Given the description of an element on the screen output the (x, y) to click on. 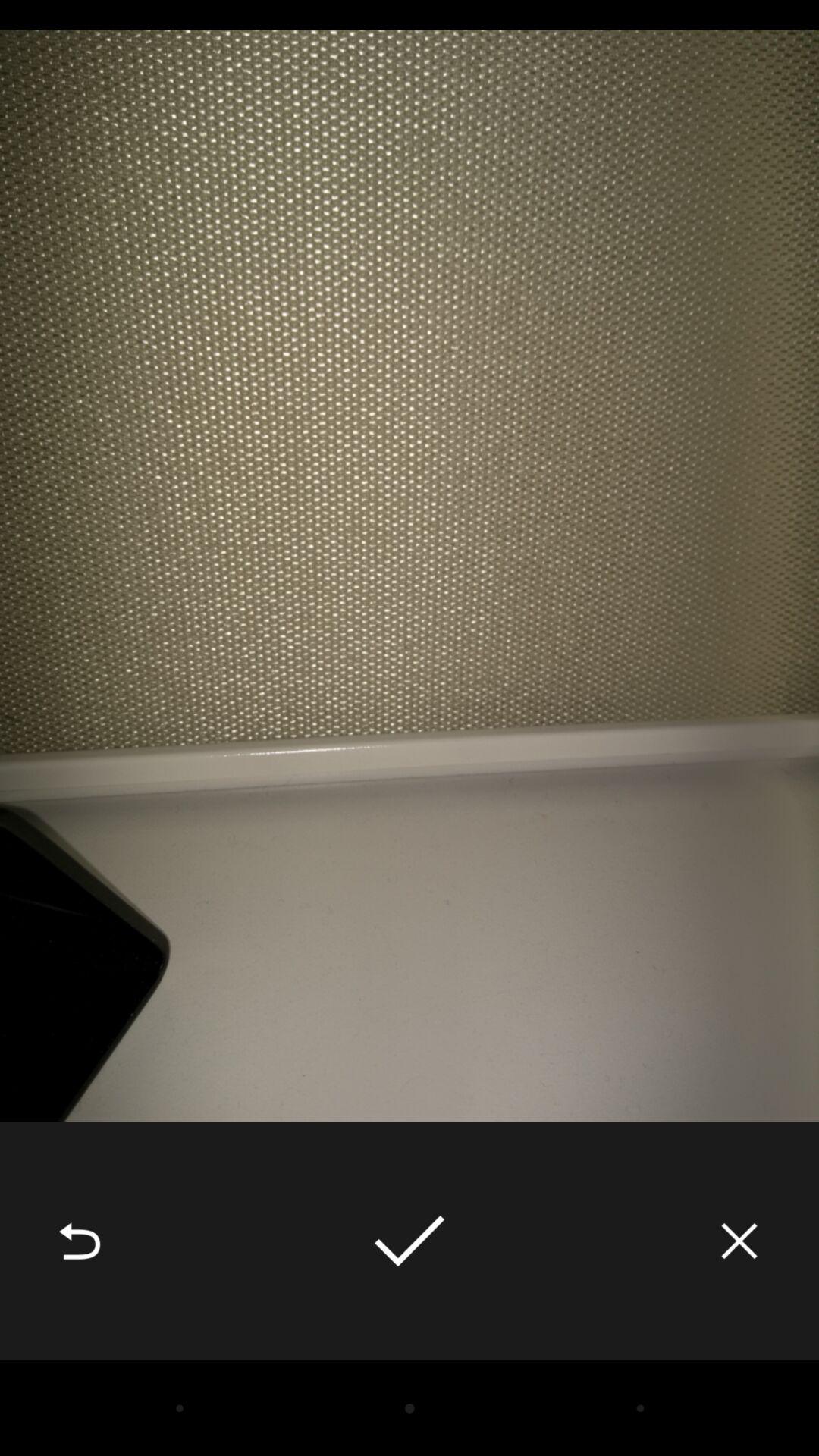
open the item at the bottom right corner (739, 1240)
